Given the description of an element on the screen output the (x, y) to click on. 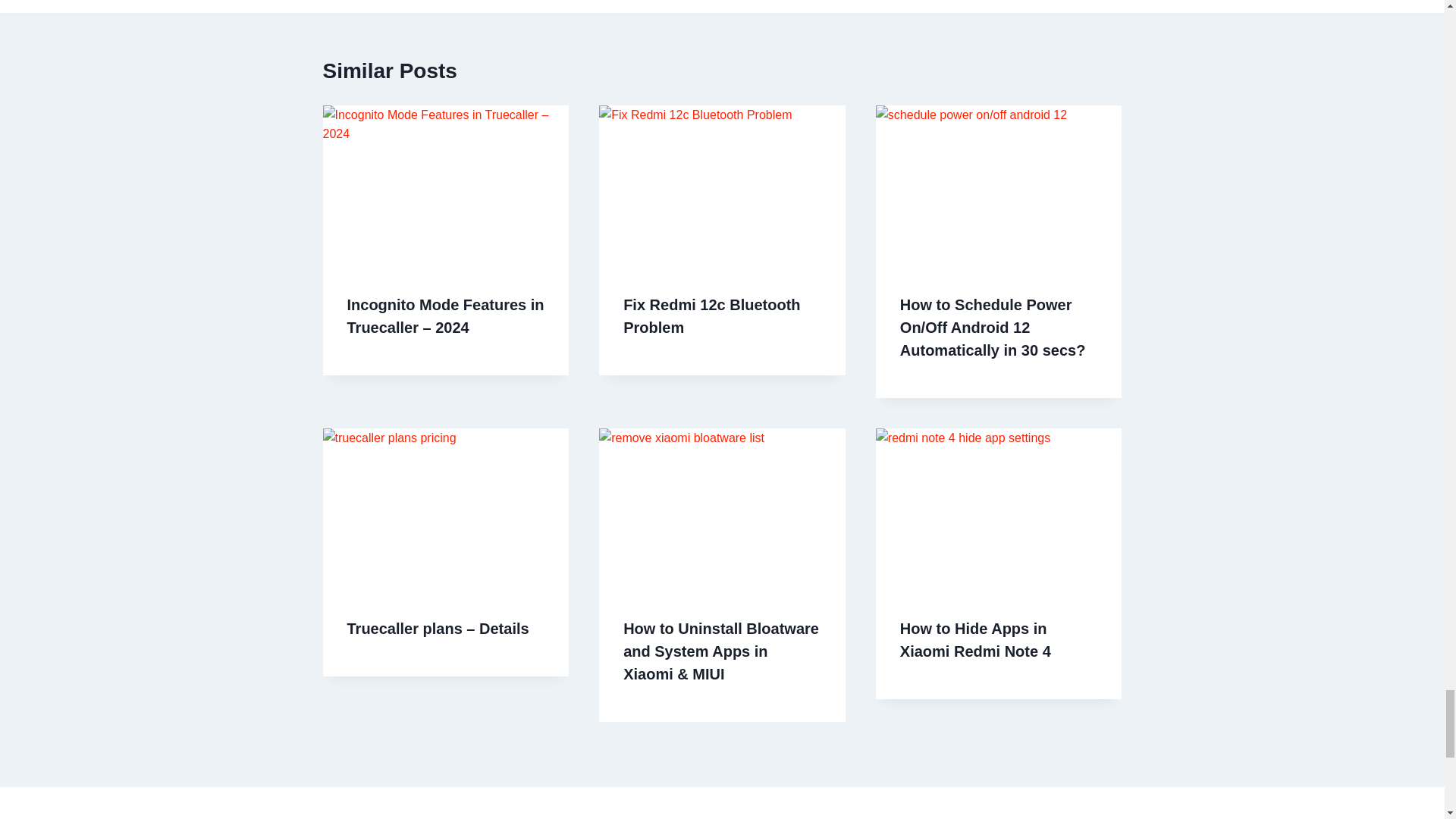
Fix Redmi 12c Bluetooth Problem (711, 315)
